Given the description of an element on the screen output the (x, y) to click on. 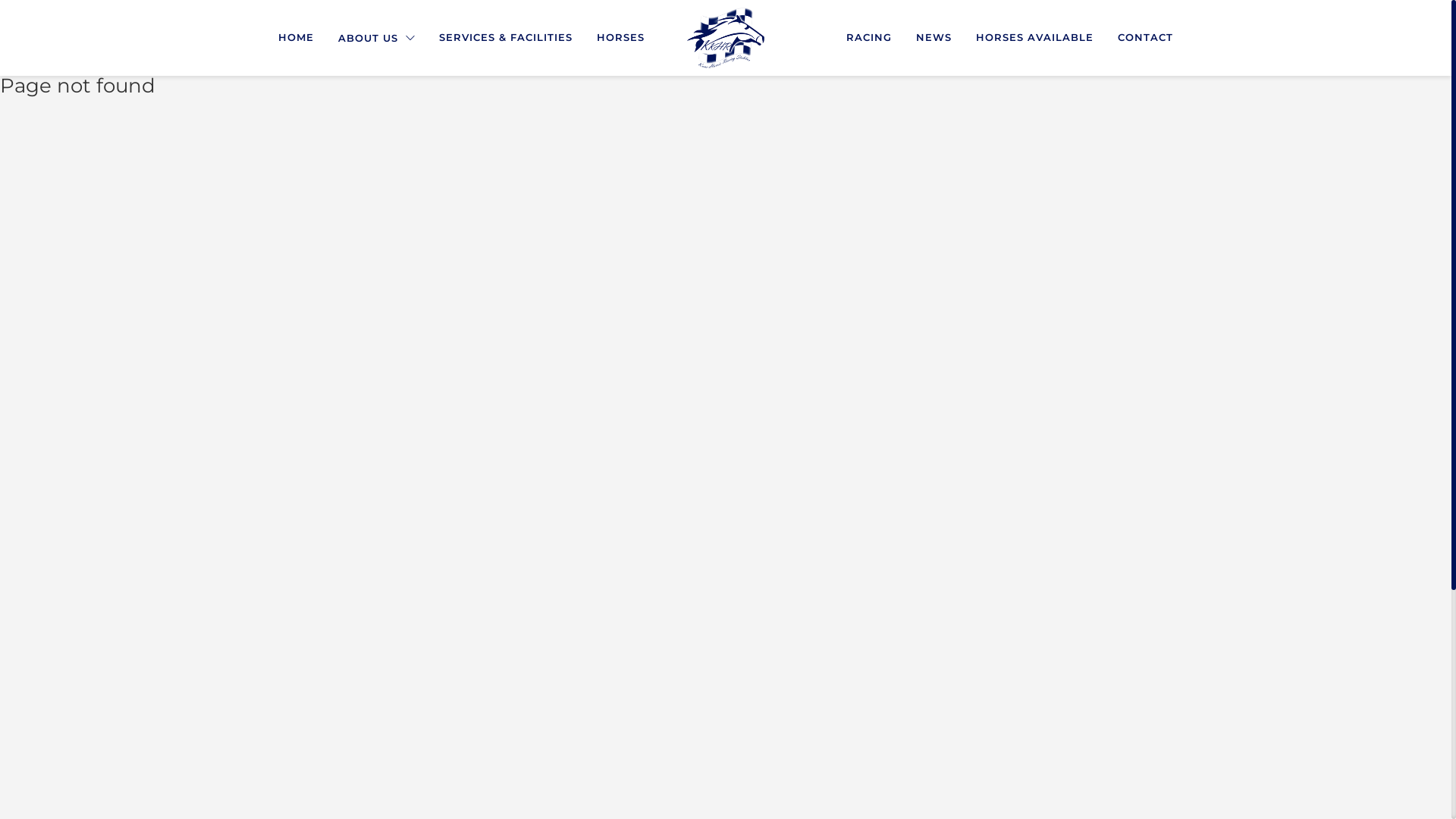
HORSES Element type: text (620, 37)
ABOUT US Element type: text (376, 37)
HOME Element type: text (296, 37)
HORSES AVAILABLE Element type: text (1034, 37)
CONTACT Element type: text (1145, 37)
SERVICES & FACILITIES Element type: text (505, 37)
RACING Element type: text (868, 37)
NEWS Element type: text (933, 37)
